Given the description of an element on the screen output the (x, y) to click on. 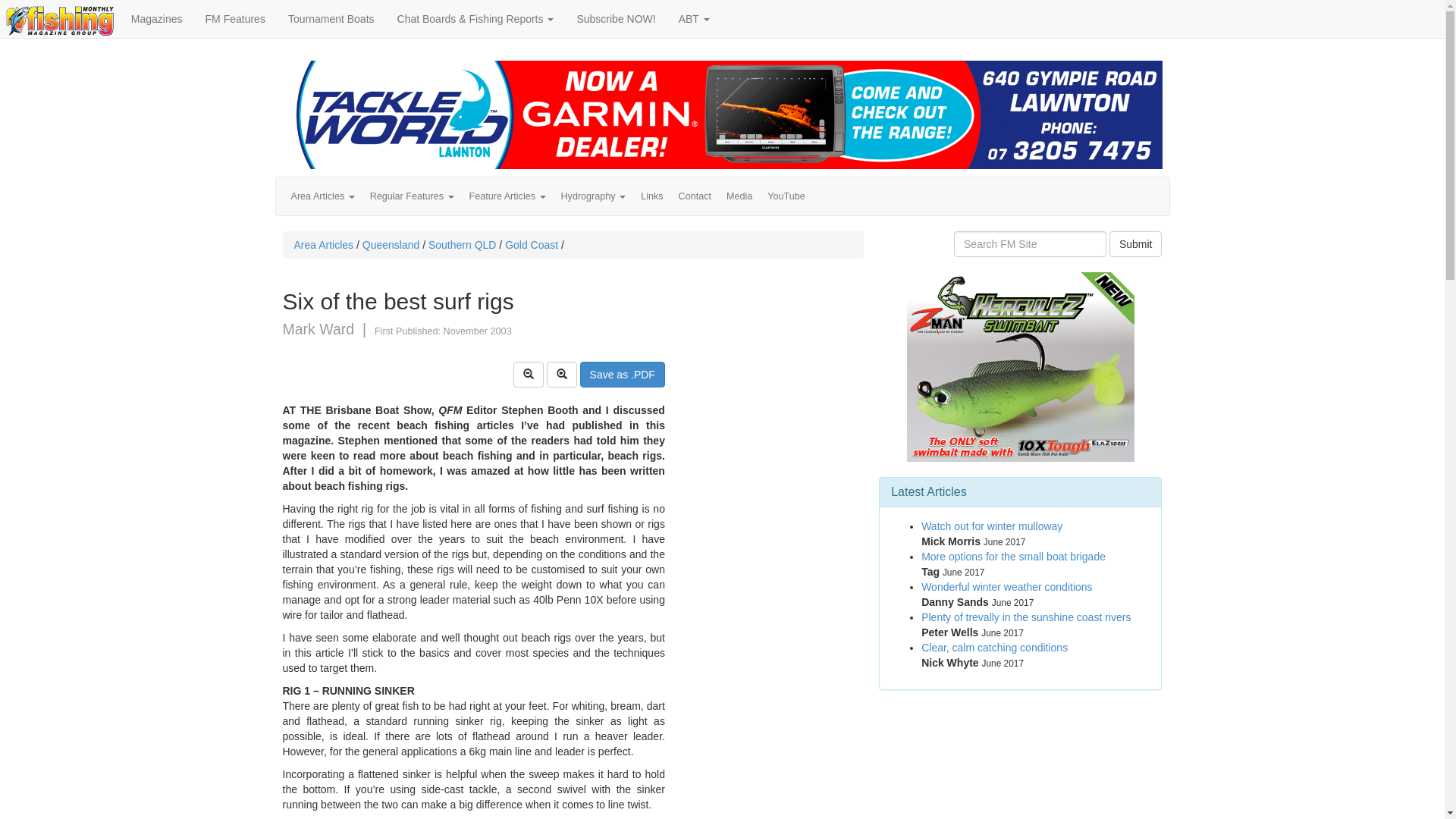
Regular Features Element type: text (411, 196)
Save as .PDF Element type: text (622, 373)
More options for the small boat brigade Element type: text (1013, 556)
Wonderful winter weather conditions Element type: text (1006, 586)
Area Articles Element type: text (322, 196)
Gold Coast Element type: text (531, 244)
Clear, calm catching conditions Element type: text (994, 647)
Subscribe NOW! Element type: text (615, 18)
Hydrography Element type: text (593, 196)
Queensland Element type: text (391, 244)
Southern QLD Element type: text (462, 244)
Magazines Element type: text (156, 18)
Area Articles Element type: text (324, 244)
TTsHerculeZ300x250 Element type: hover (1020, 366)
Chat Boards & Fishing Reports Element type: text (475, 18)
Submit Element type: text (1135, 244)
Contact Element type: text (694, 196)
Media Element type: text (738, 196)
TWLAWNTONGARMIN728x90 Element type: hover (721, 114)
YouTube Element type: text (785, 196)
ABT Element type: text (694, 18)
Save as .PDF Element type: text (622, 374)
FM Features Element type: text (235, 18)
Links Element type: text (651, 196)
Feature Articles Element type: text (507, 196)
Plenty of trevally in the sunshine coast rivers Element type: text (1025, 617)
Tournament Boats Element type: text (330, 18)
Watch out for winter mulloway Element type: text (991, 526)
